Given the description of an element on the screen output the (x, y) to click on. 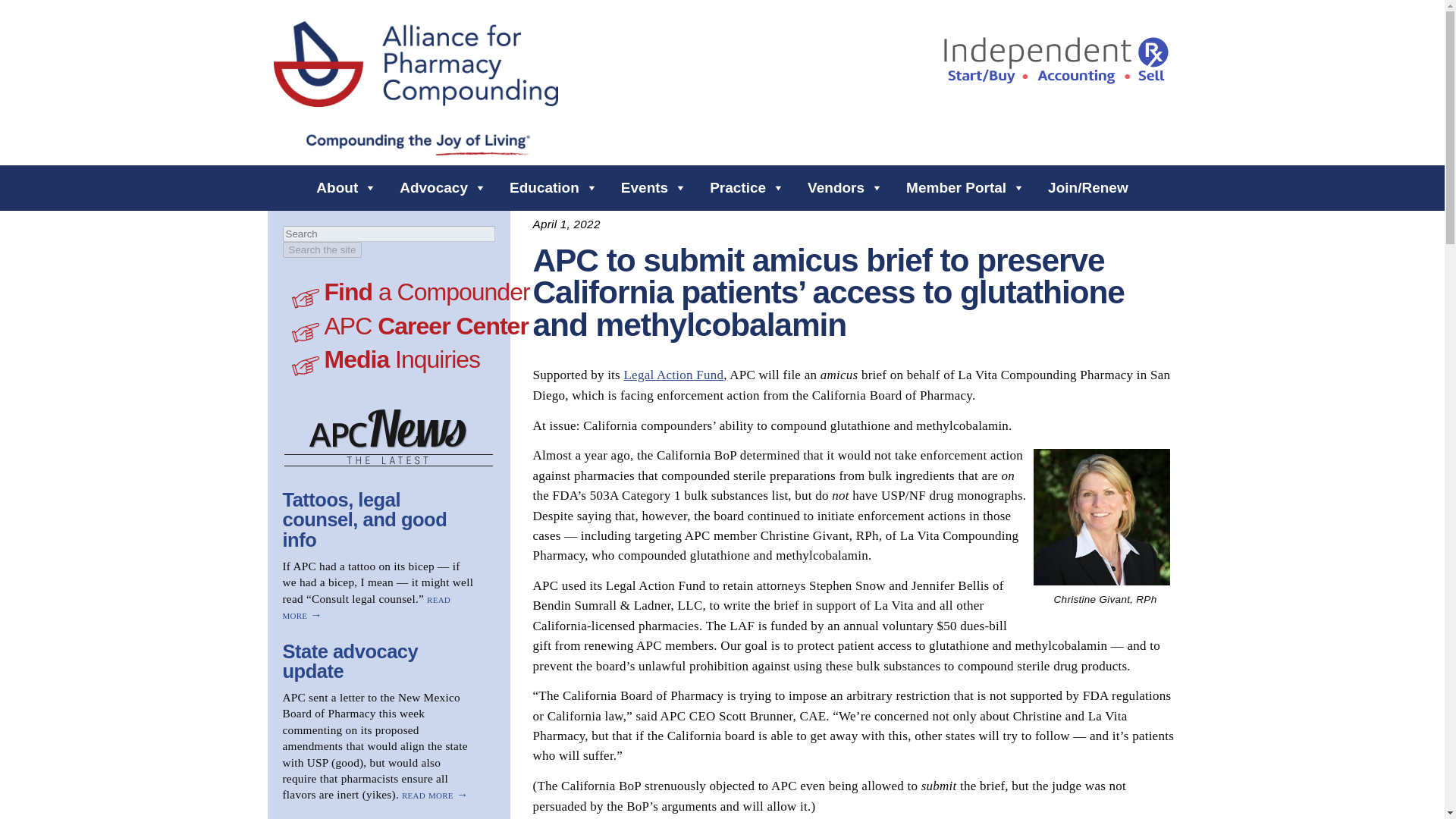
About (346, 187)
Advocacy (442, 187)
Search the site (321, 249)
IRX-Logo-Color-500 (1055, 61)
Events (654, 187)
Education (553, 187)
